Given the description of an element on the screen output the (x, y) to click on. 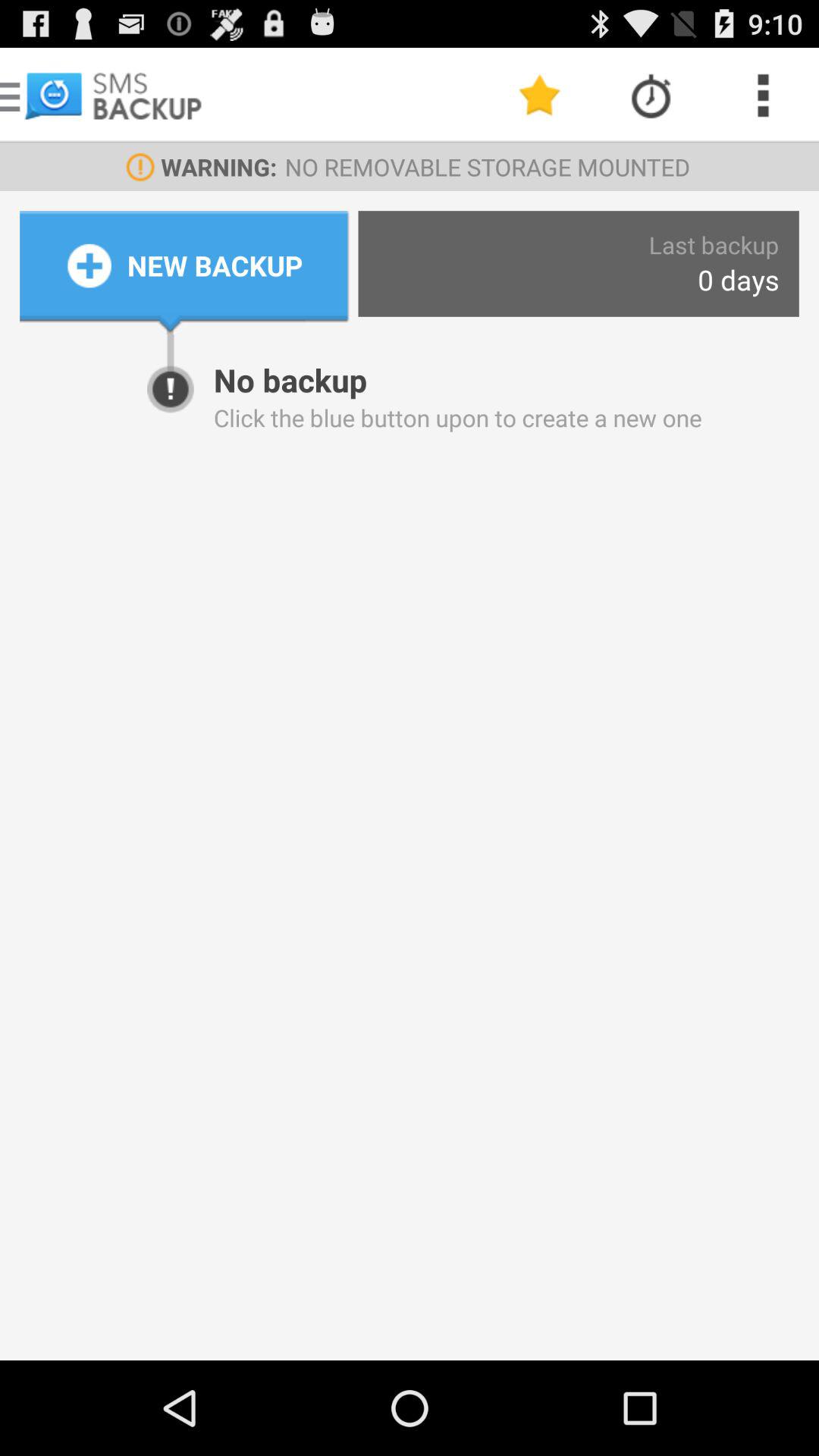
open the item below the no removable storage item (713, 244)
